Given the description of an element on the screen output the (x, y) to click on. 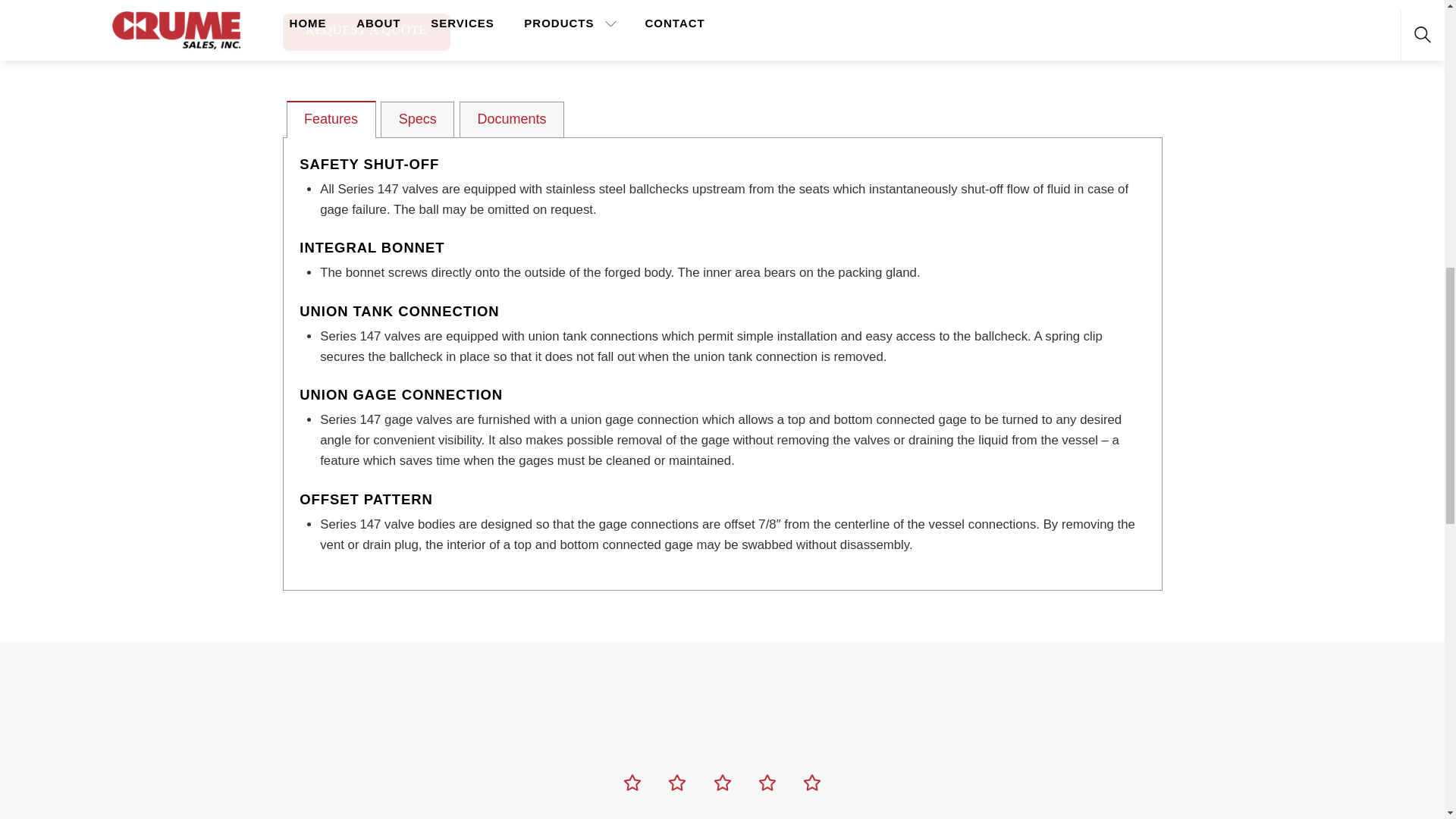
REQUEST A QUOTE (365, 31)
Features Specs Documents (721, 119)
Specs (416, 119)
Features (330, 119)
Documents (511, 119)
